Given the description of an element on the screen output the (x, y) to click on. 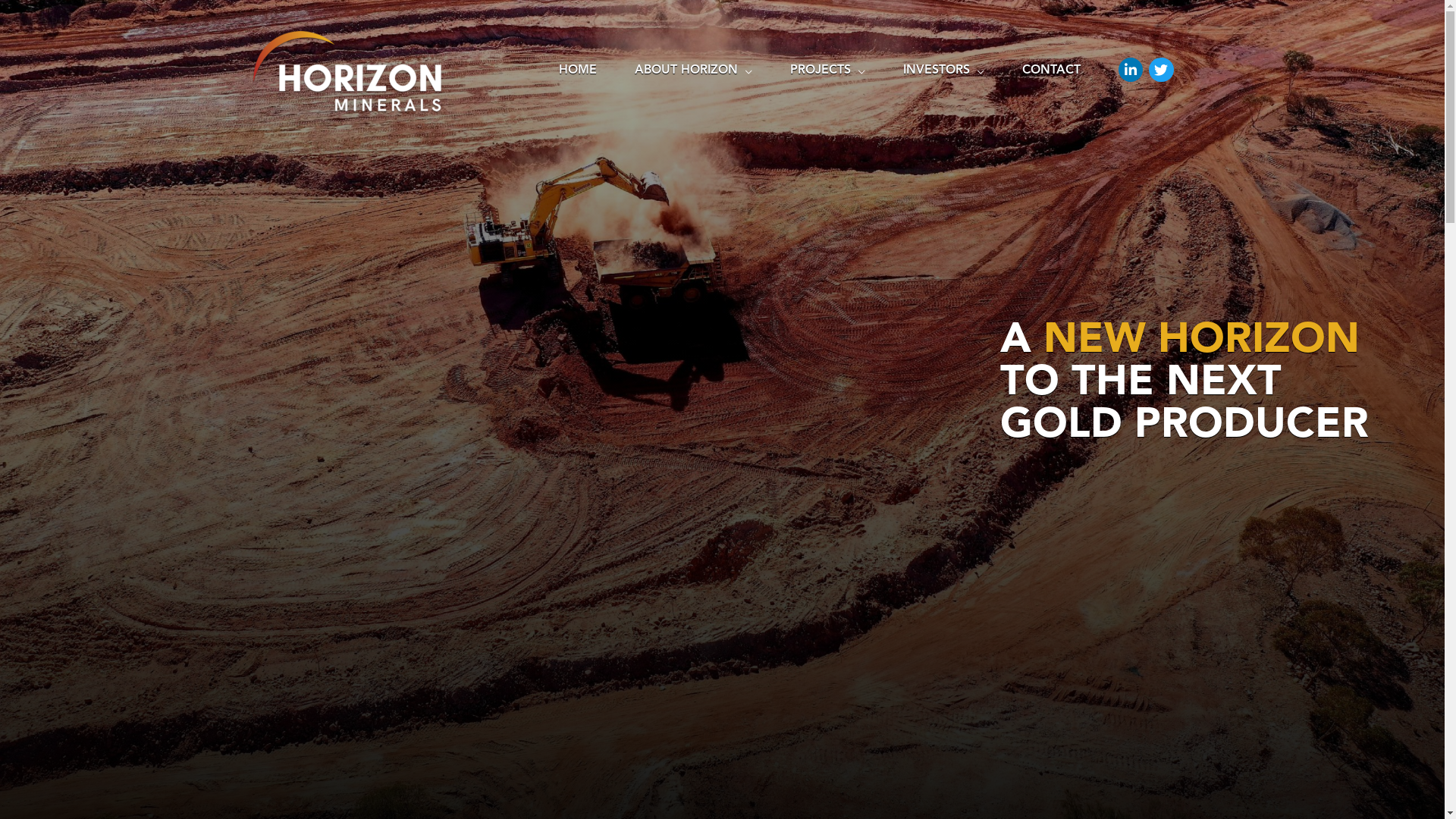
LINKEDIN-IN Element type: text (1130, 69)
PROJECTS Element type: text (827, 71)
ABOUT HORIZON Element type: text (693, 71)
INVESTORS Element type: text (943, 71)
HOME Element type: text (577, 71)
CONTACT Element type: text (1051, 71)
TWITTER Element type: text (1160, 69)
